Given the description of an element on the screen output the (x, y) to click on. 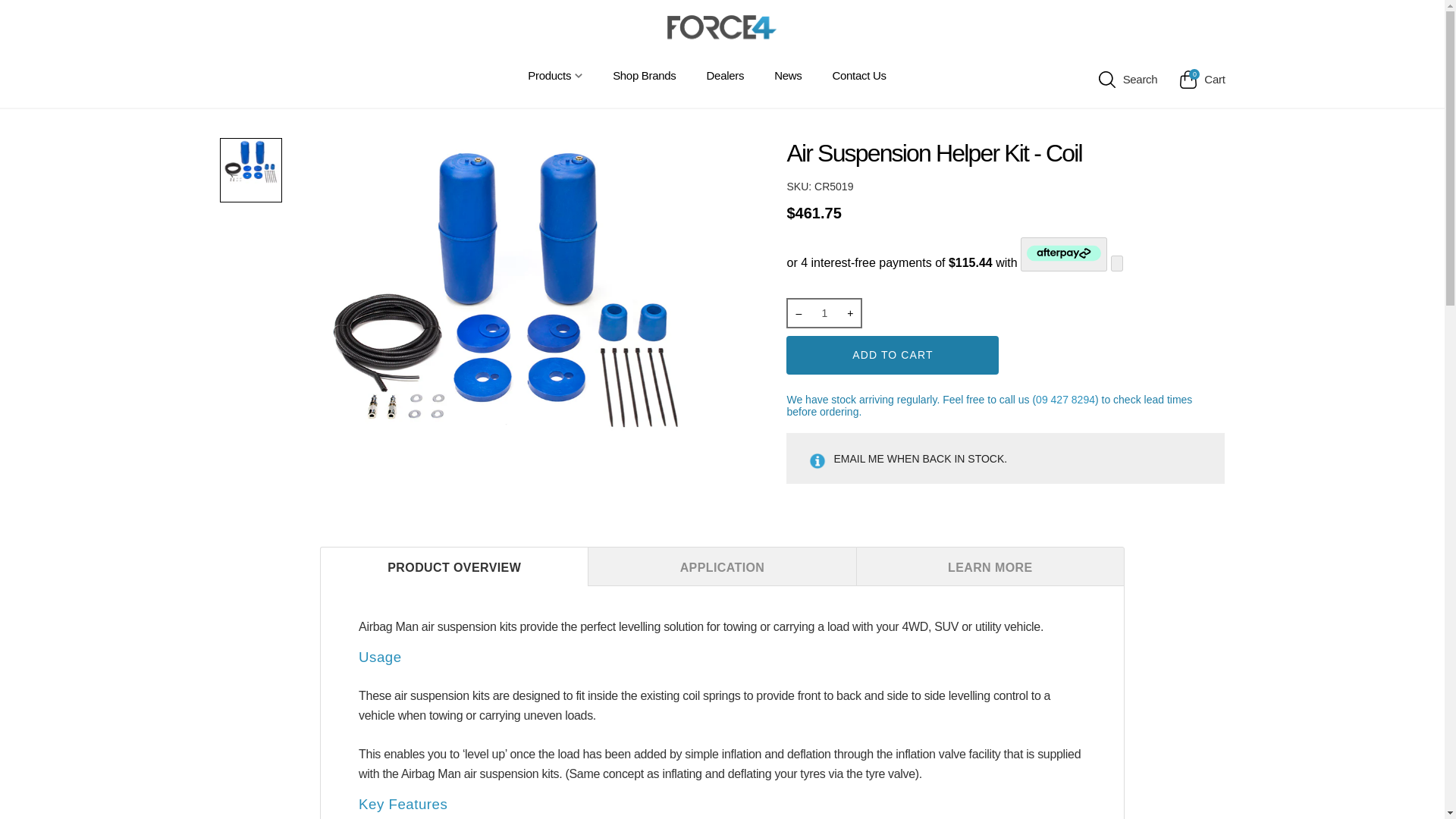
1 (823, 313)
